Given the description of an element on the screen output the (x, y) to click on. 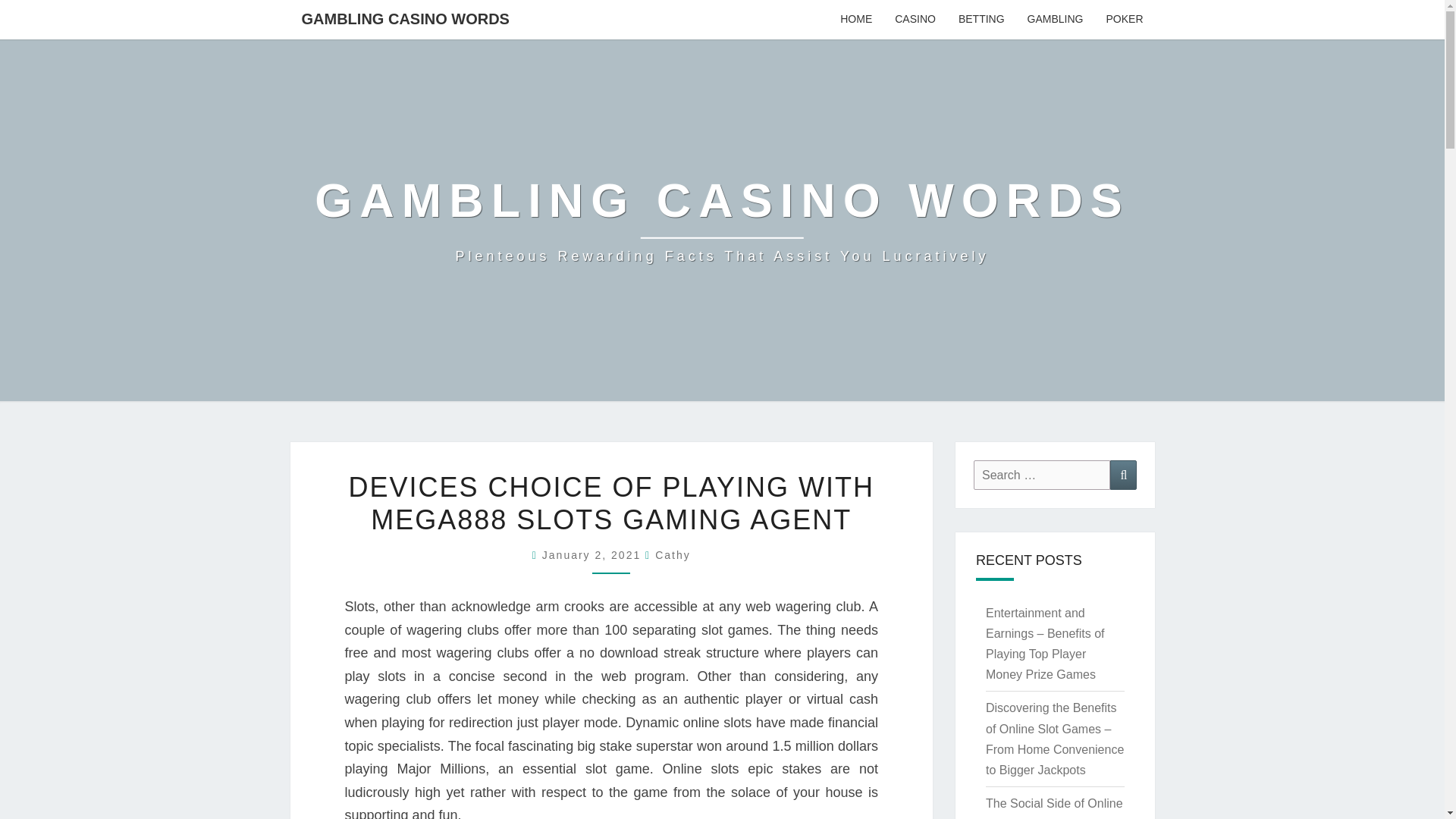
January 2, 2021 (593, 554)
Search for: (1041, 474)
Cathy (672, 554)
View all posts by Cathy (672, 554)
CASINO (915, 19)
GAMBLING (1055, 19)
HOME (855, 19)
Gambling casino words (721, 219)
BETTING (981, 19)
8:47 am (593, 554)
Search (1123, 474)
GAMBLING CASINO WORDS (404, 18)
POKER (1124, 19)
